Given the description of an element on the screen output the (x, y) to click on. 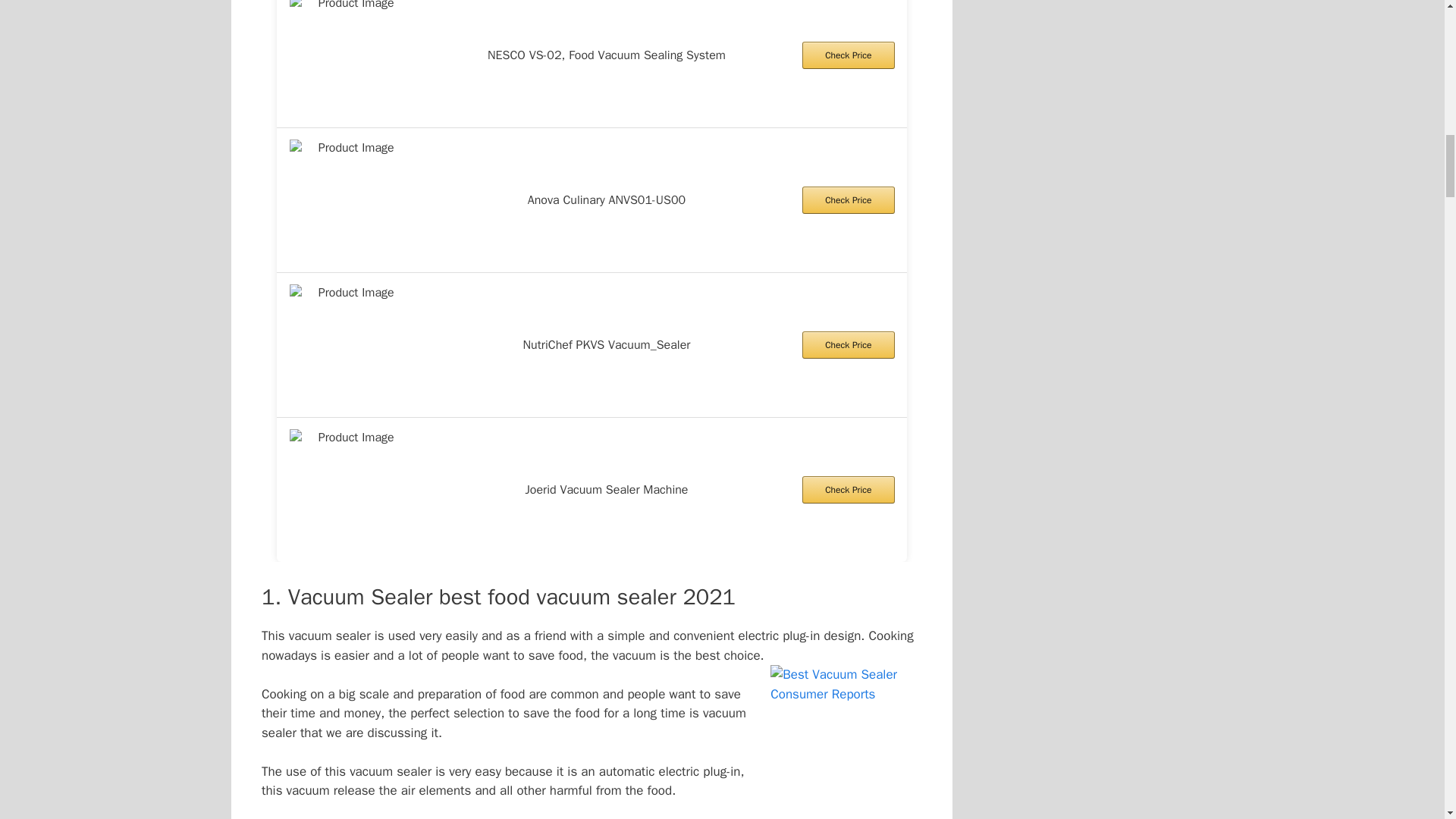
Best Vacuum Sealer Consumer Reports (845, 740)
Check Price (848, 489)
Check Price (848, 344)
Check Price (848, 54)
Check Price (848, 199)
